Given the description of an element on the screen output the (x, y) to click on. 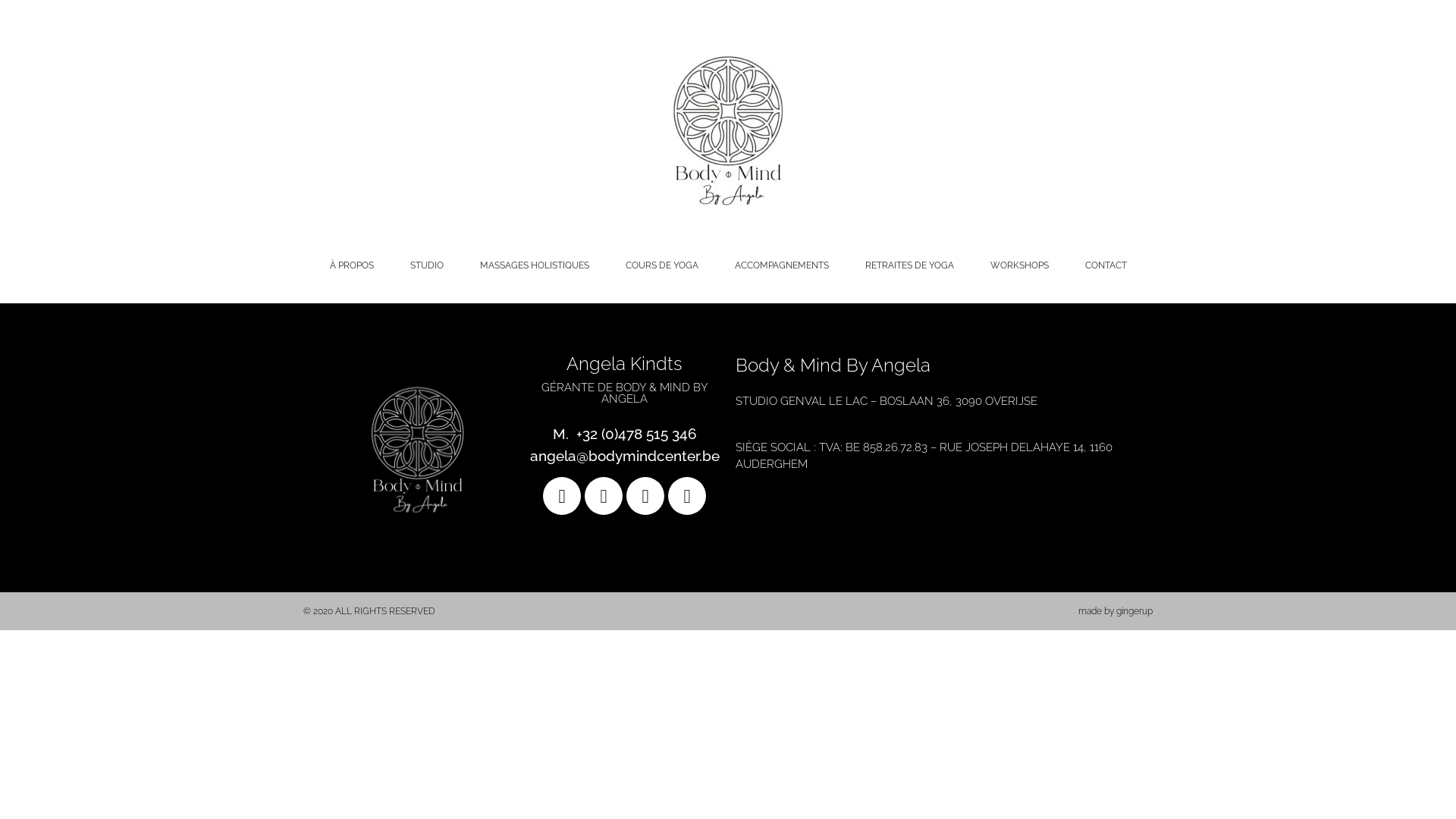
STUDIO Element type: text (426, 265)
RETRAITES DE YOGA Element type: text (908, 265)
MASSAGES HOLISTIQUES Element type: text (533, 265)
32 (0)478 515 346 Element type: text (639, 433)
angela@bodymindcenter.be Element type: text (623, 455)
WORKSHOPS Element type: text (1019, 265)
COURS DE YOGA Element type: text (660, 265)
CONTACT Element type: text (1105, 265)
ACCOMPAGNEMENTS Element type: text (780, 265)
